Given the description of an element on the screen output the (x, y) to click on. 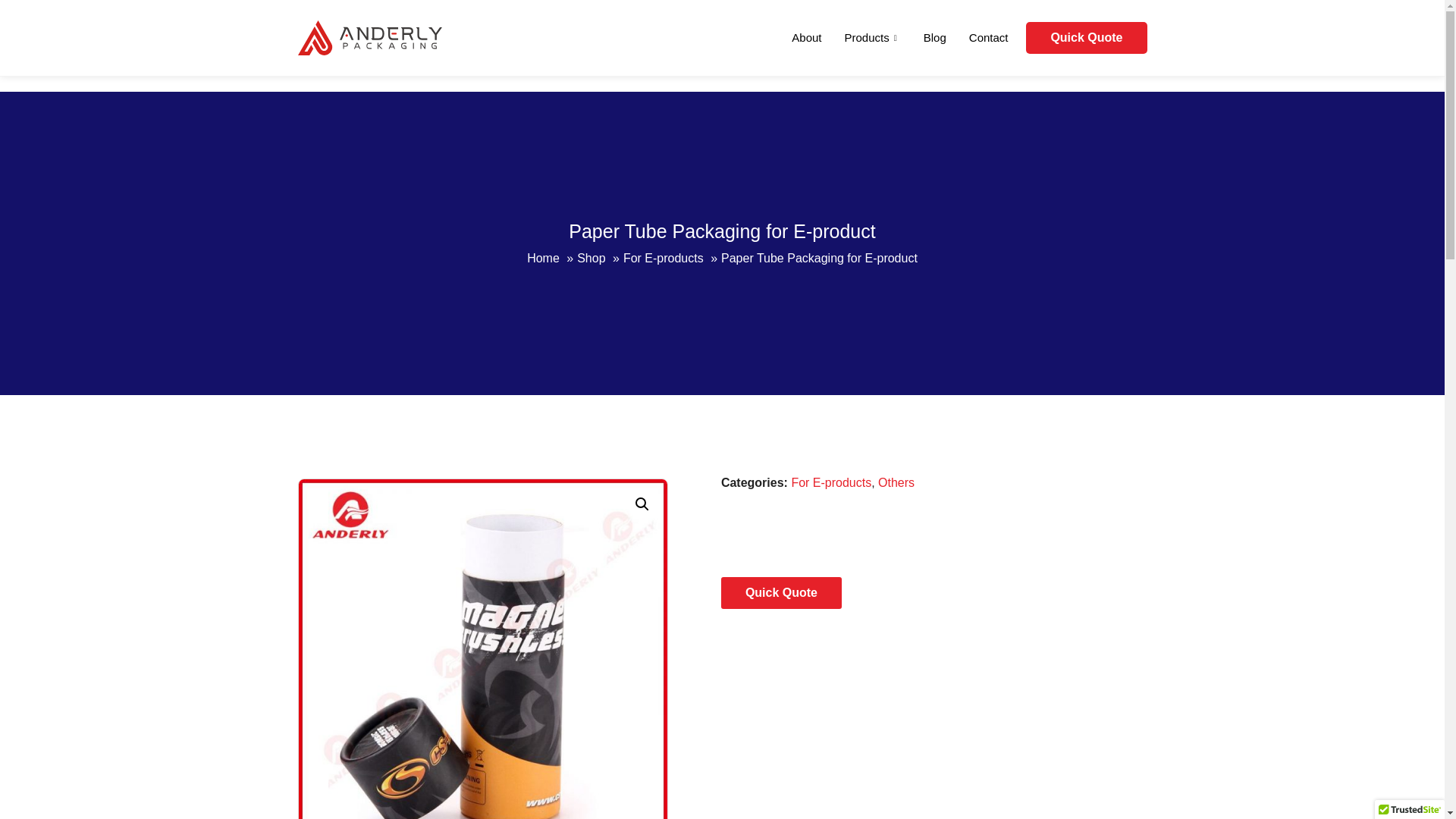
Paper Mailing Tube (850, 649)
Products (872, 37)
Custom Printing Box (482, 649)
